Given the description of an element on the screen output the (x, y) to click on. 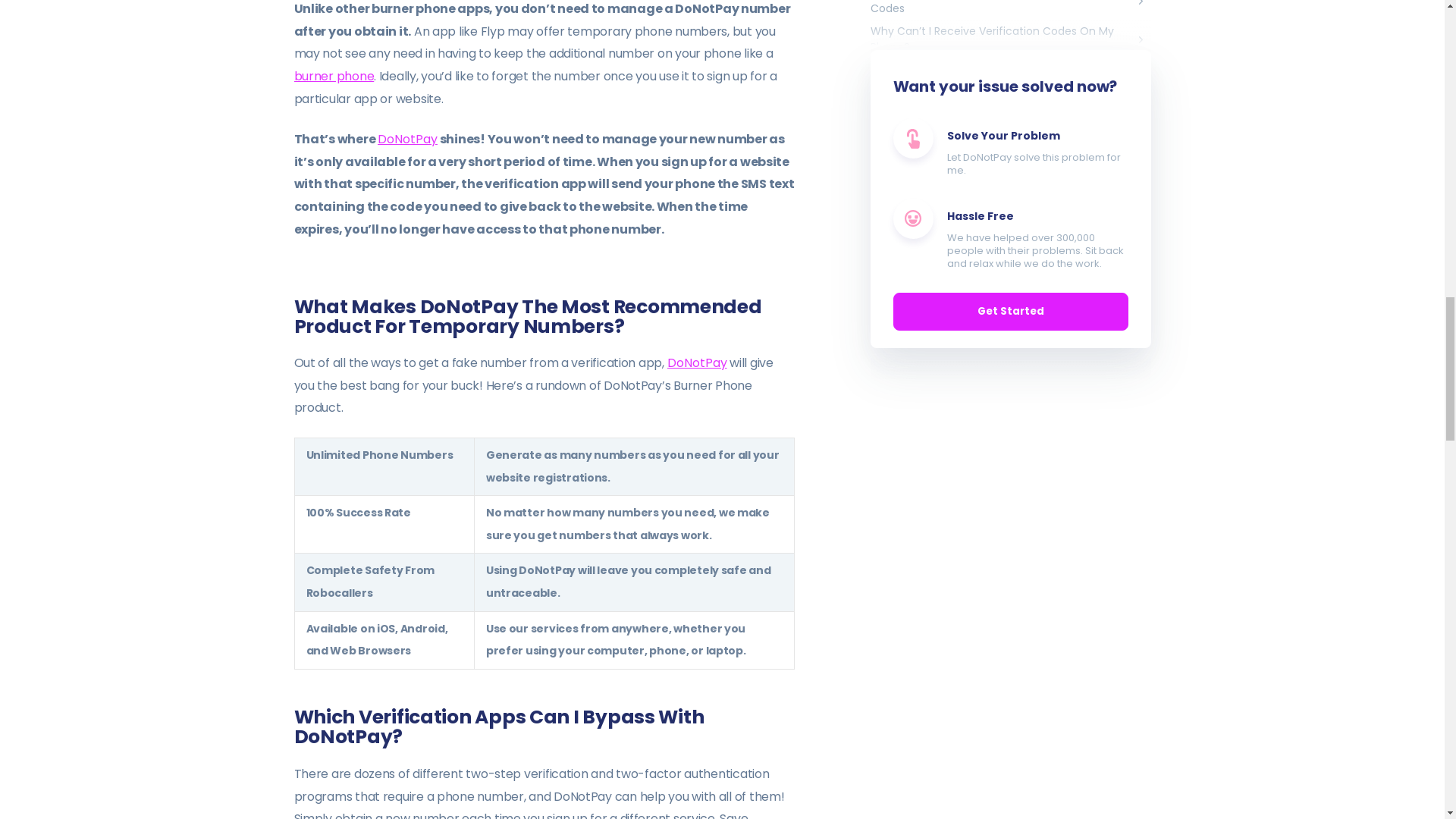
burner phone (334, 76)
DoNotPay (696, 362)
DoNotPay (407, 138)
